Given the description of an element on the screen output the (x, y) to click on. 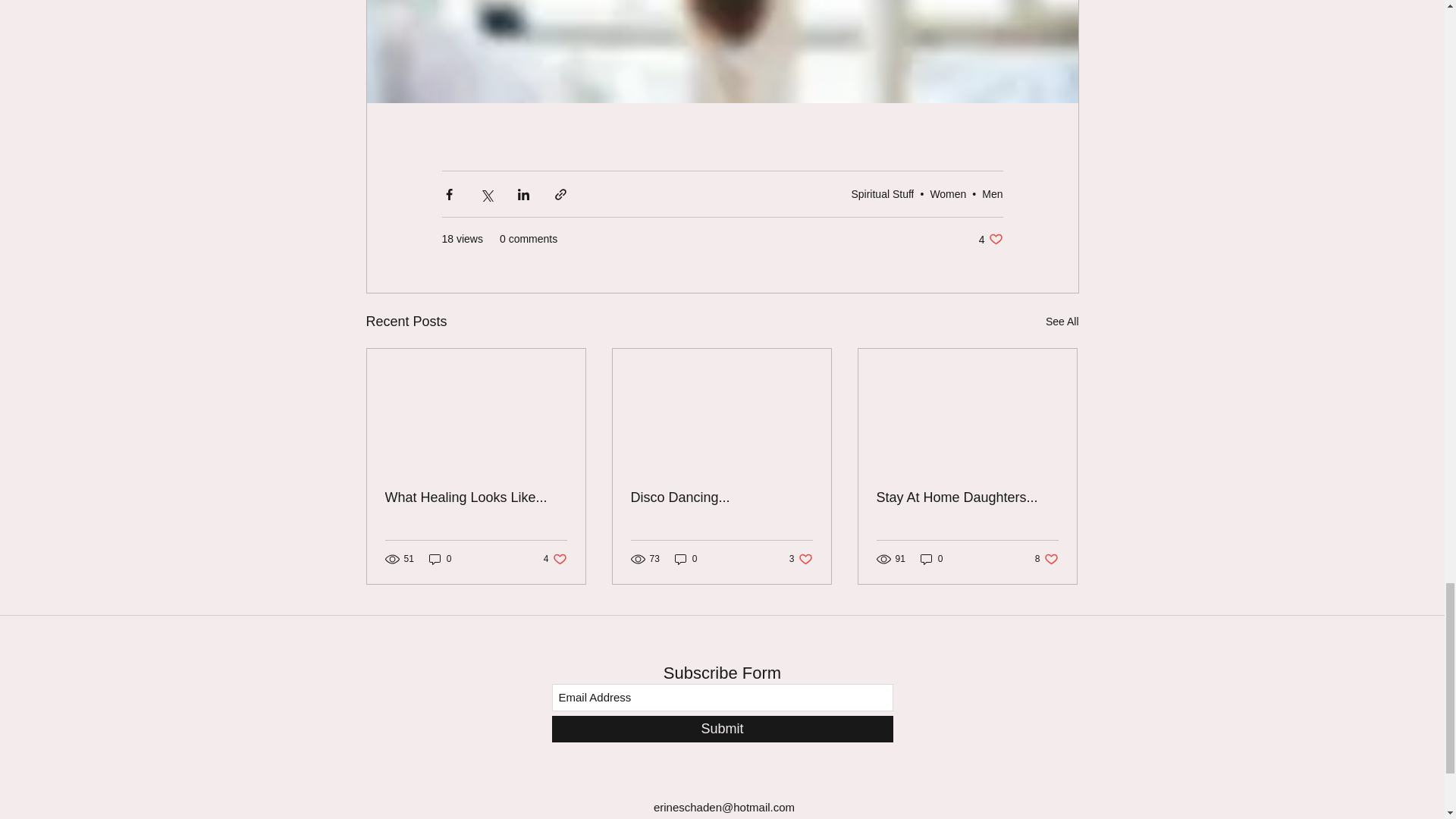
See All (1061, 321)
Men (992, 193)
Women (948, 193)
Spiritual Stuff (990, 238)
